Given the description of an element on the screen output the (x, y) to click on. 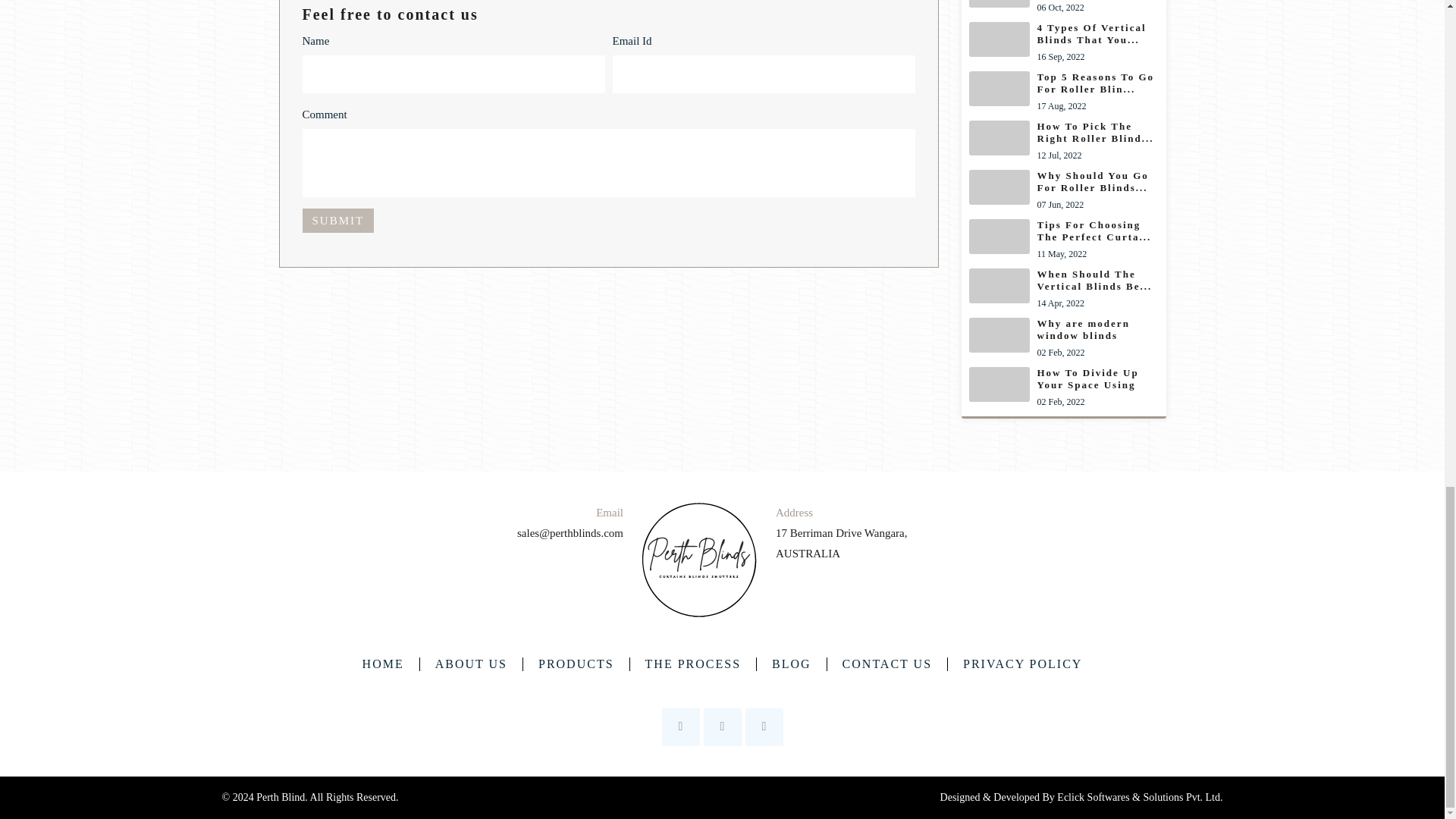
Top 5 Reasons To Go For Roller Blinds (1063, 92)
How Can You Style Vertical Blinds In Home (1063, 141)
SUBMIT (1063, 7)
4 Types Of Vertical Blinds That You Can Choose From (1063, 338)
